Given the description of an element on the screen output the (x, y) to click on. 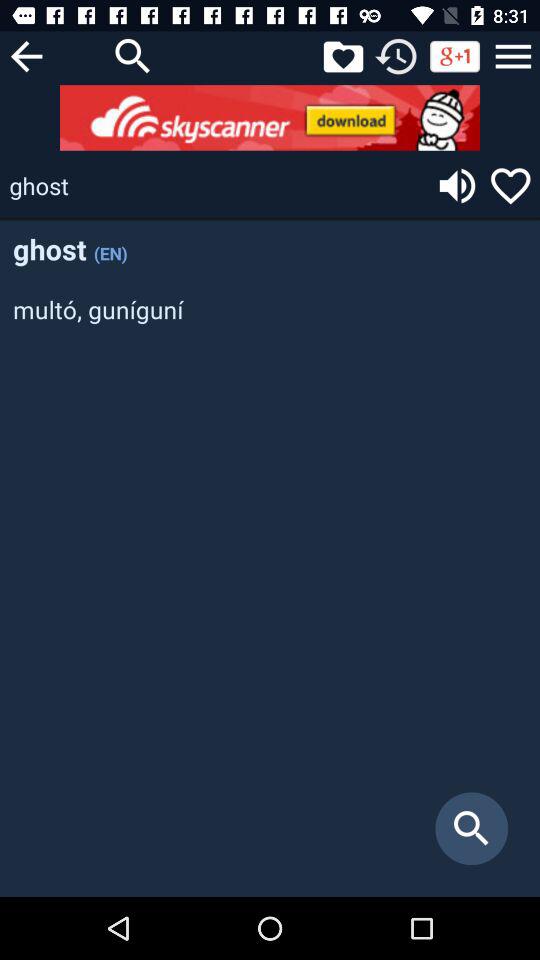
fevorited (343, 56)
